Given the description of an element on the screen output the (x, y) to click on. 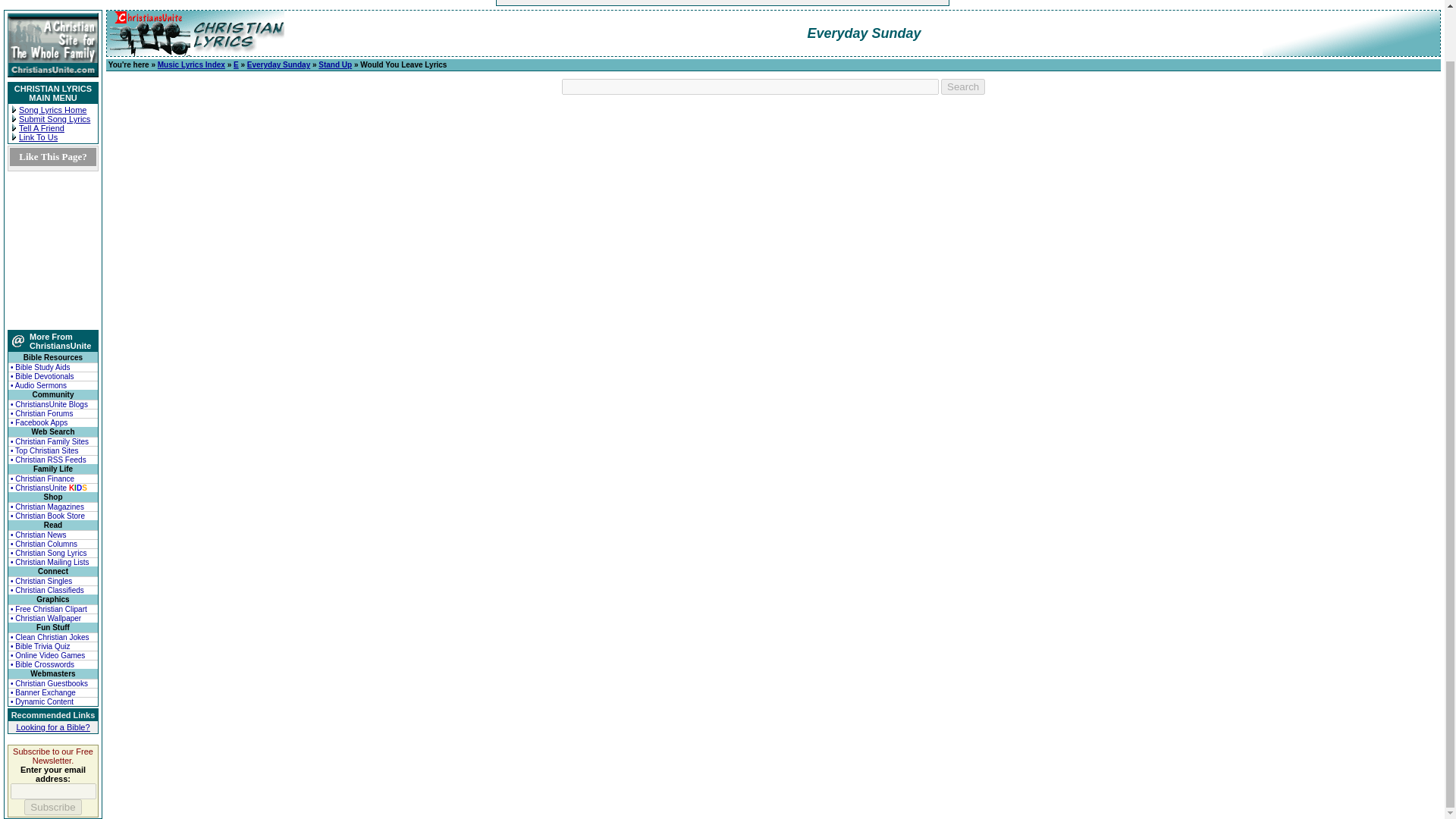
Song Lyrics Home (51, 109)
Stand Up (335, 64)
Advertisement (673, 2)
Subscribe (52, 806)
Looking for a Bible? (52, 727)
Tell A Friend (41, 127)
Subscribe (52, 806)
Search (962, 86)
Link To Us (38, 136)
Everyday Sunday (278, 64)
